Given the description of an element on the screen output the (x, y) to click on. 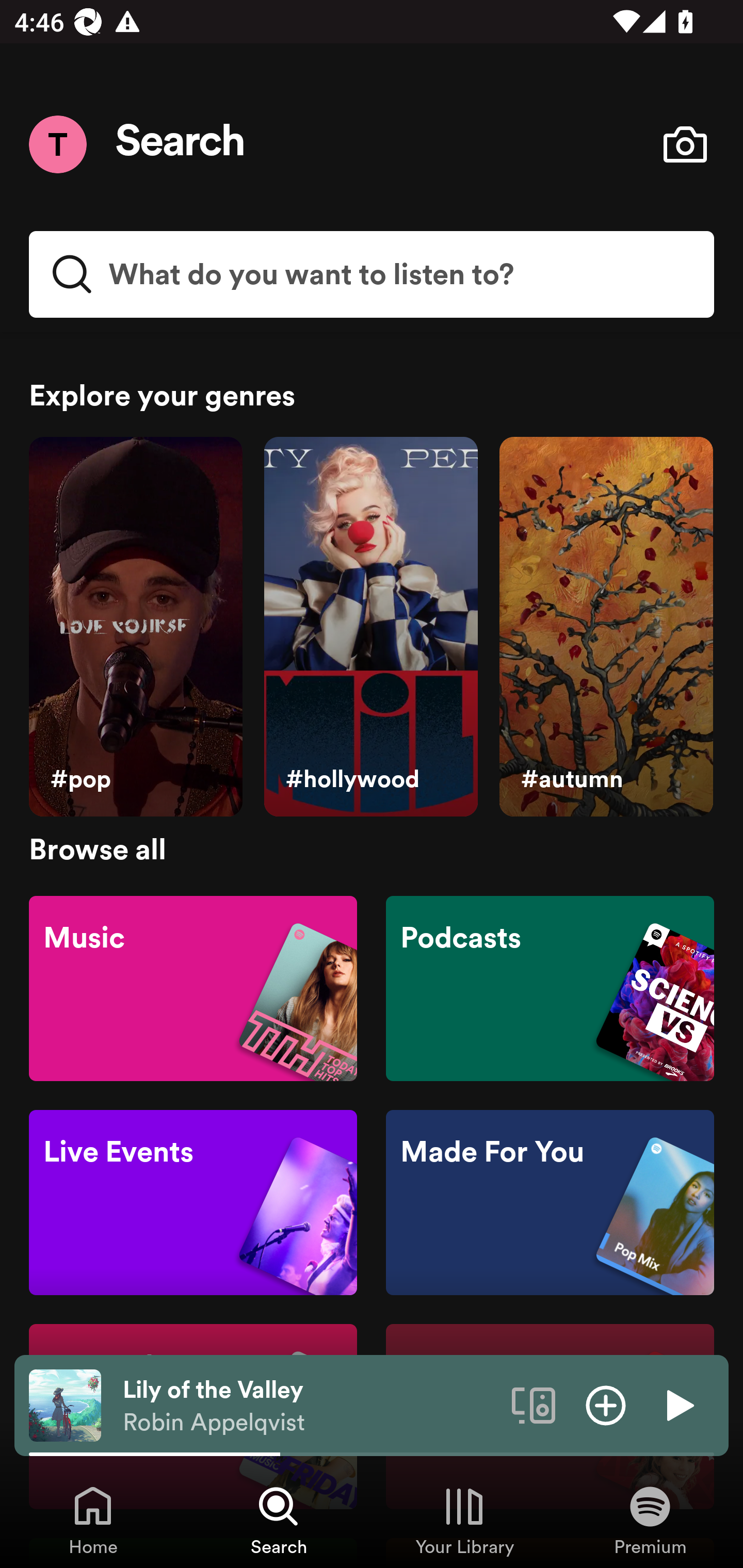
Menu (57, 144)
Open camera (685, 145)
Search (180, 144)
#pop (135, 626)
#hollywood (370, 626)
#autumn (606, 626)
Music (192, 987)
Podcasts (549, 987)
Live Events (192, 1202)
Made For You (549, 1202)
Lily of the Valley Robin Appelqvist (309, 1405)
The cover art of the currently playing track (64, 1404)
Connect to a device. Opens the devices menu (533, 1404)
Add item (605, 1404)
Play (677, 1404)
Home, Tab 1 of 4 Home Home (92, 1519)
Search, Tab 2 of 4 Search Search (278, 1519)
Your Library, Tab 3 of 4 Your Library Your Library (464, 1519)
Premium, Tab 4 of 4 Premium Premium (650, 1519)
